Given the description of an element on the screen output the (x, y) to click on. 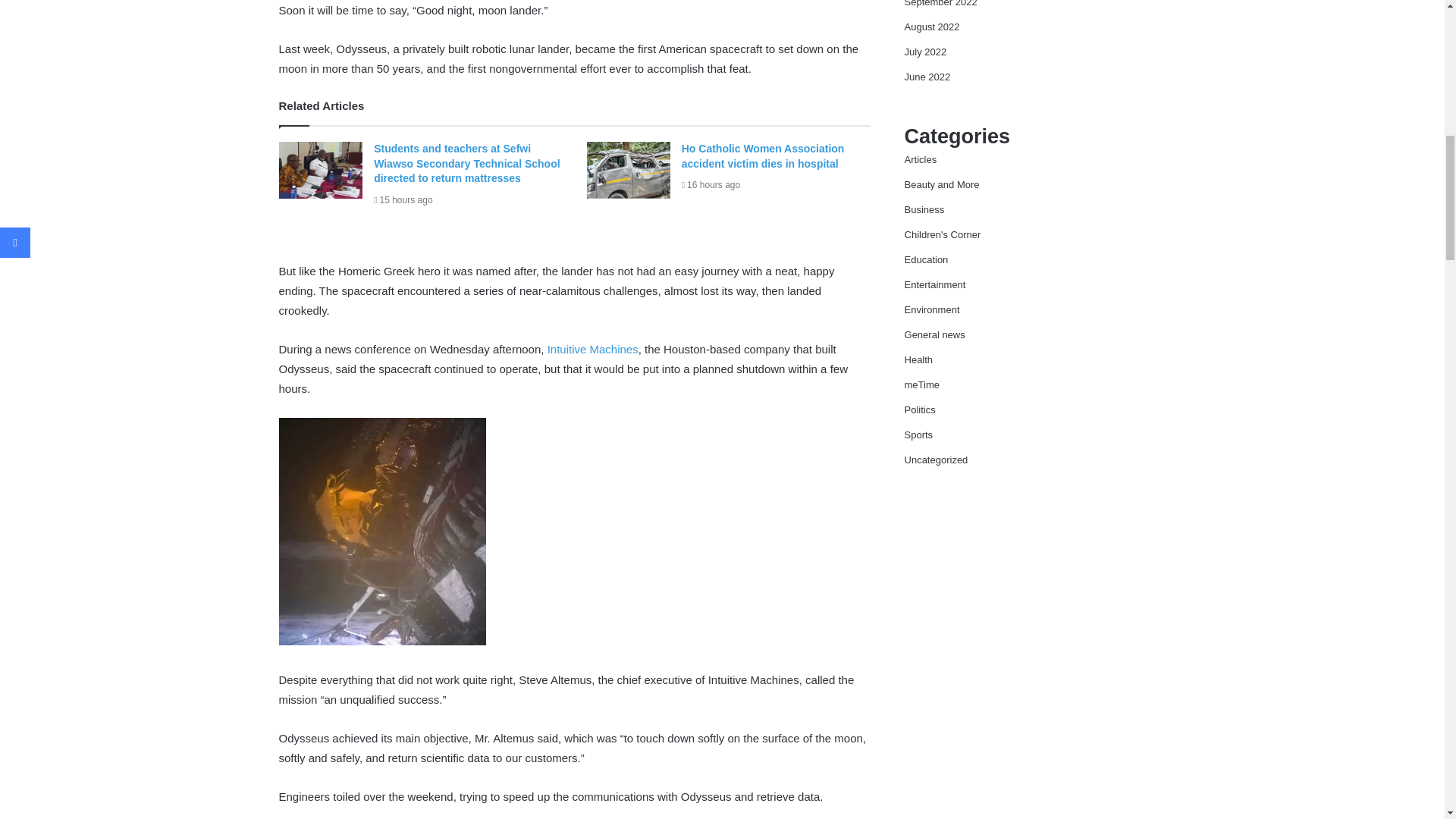
Intuitive Machines (593, 349)
